Given the description of an element on the screen output the (x, y) to click on. 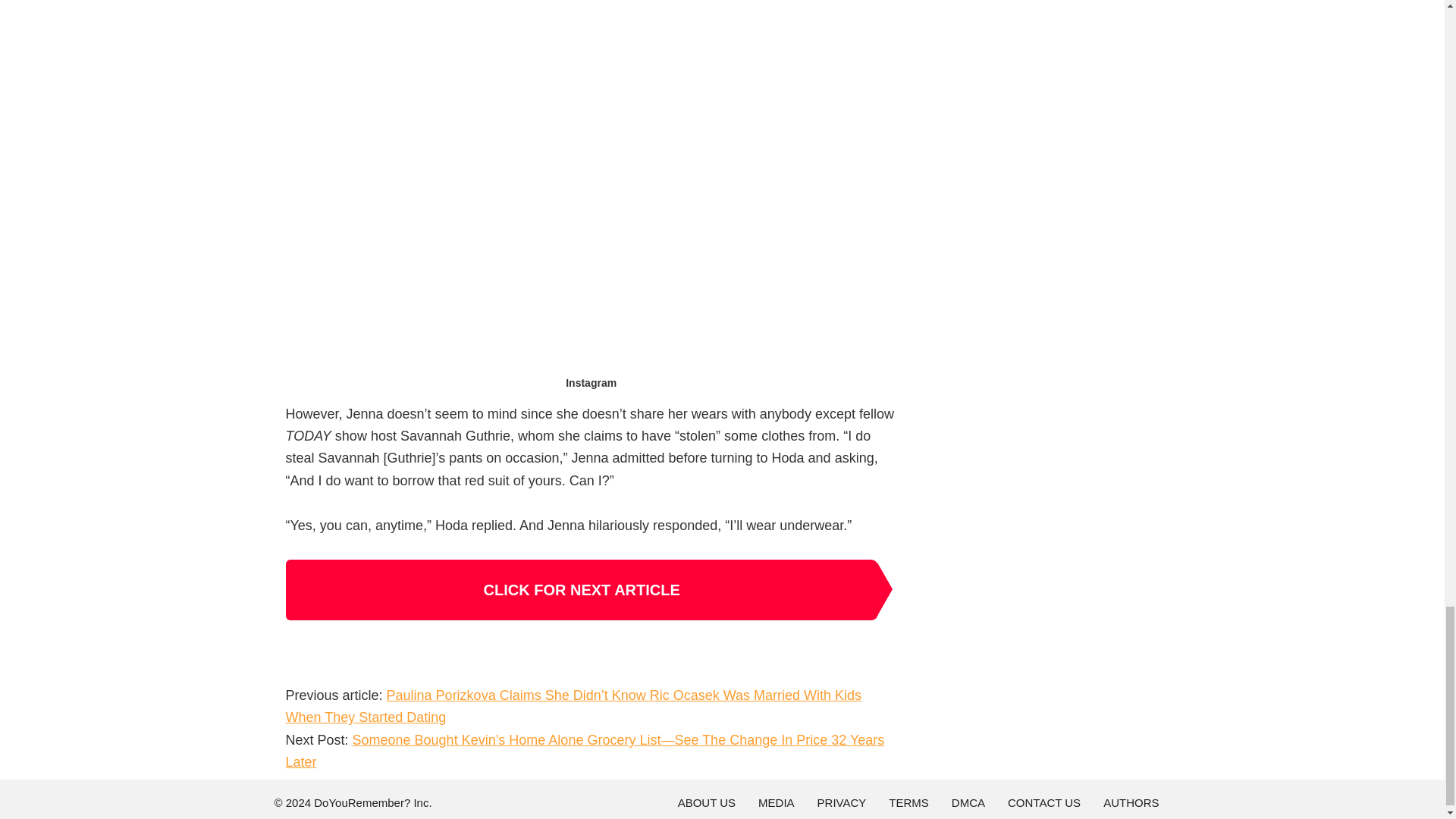
MEDIA (775, 803)
PRIVACY (841, 803)
CLICK FOR NEXT ARTICLE (581, 589)
ABOUT US (706, 803)
